Given the description of an element on the screen output the (x, y) to click on. 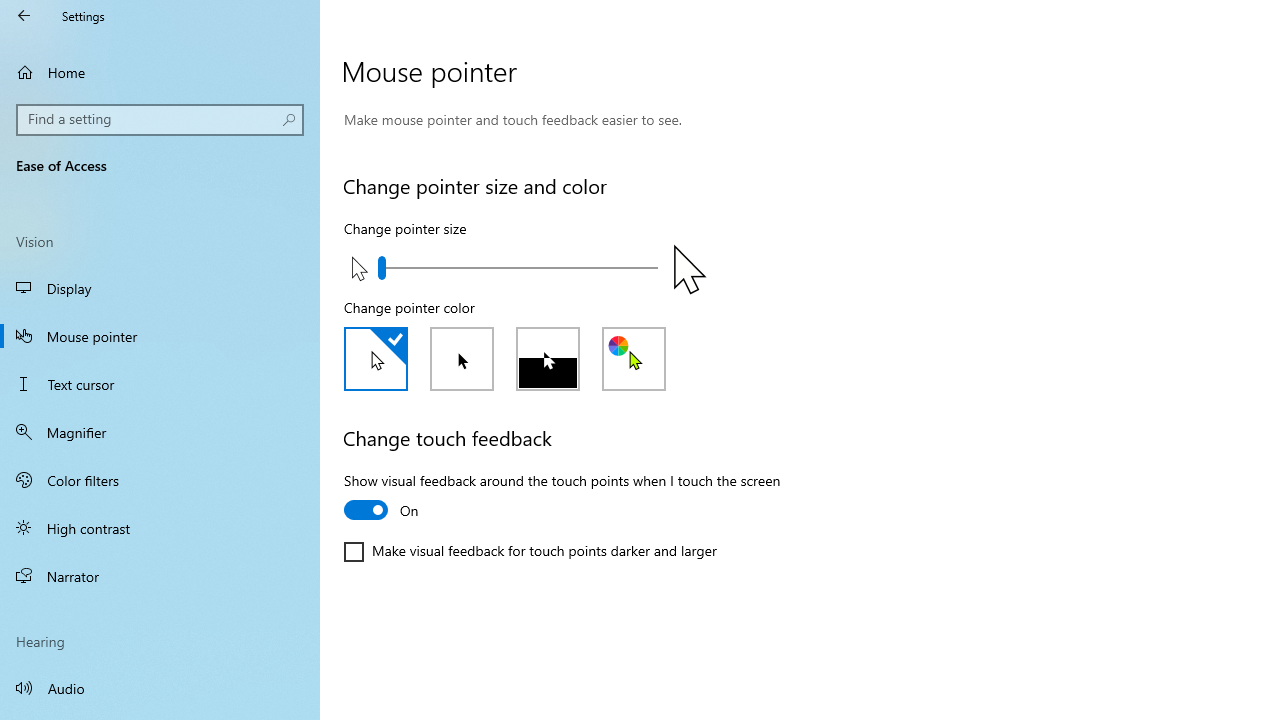
Color filters (160, 479)
Audio (160, 687)
Back (24, 15)
